Given the description of an element on the screen output the (x, y) to click on. 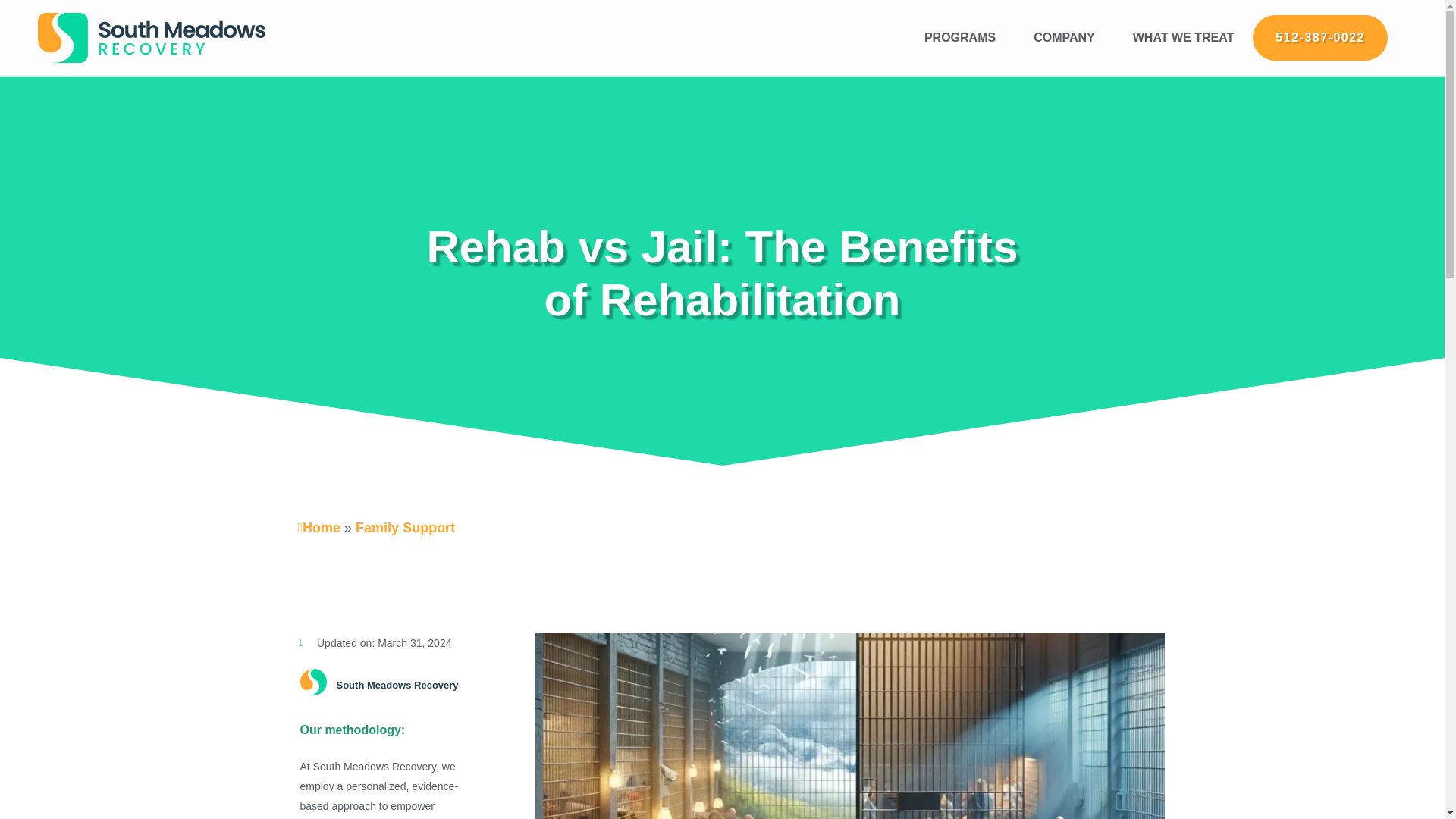
PROGRAMS (959, 38)
WHAT WE TREAT (1183, 38)
COMPANY (1063, 38)
Rehab vs Jail The Benefits of Rehabilitation (849, 726)
